Given the description of an element on the screen output the (x, y) to click on. 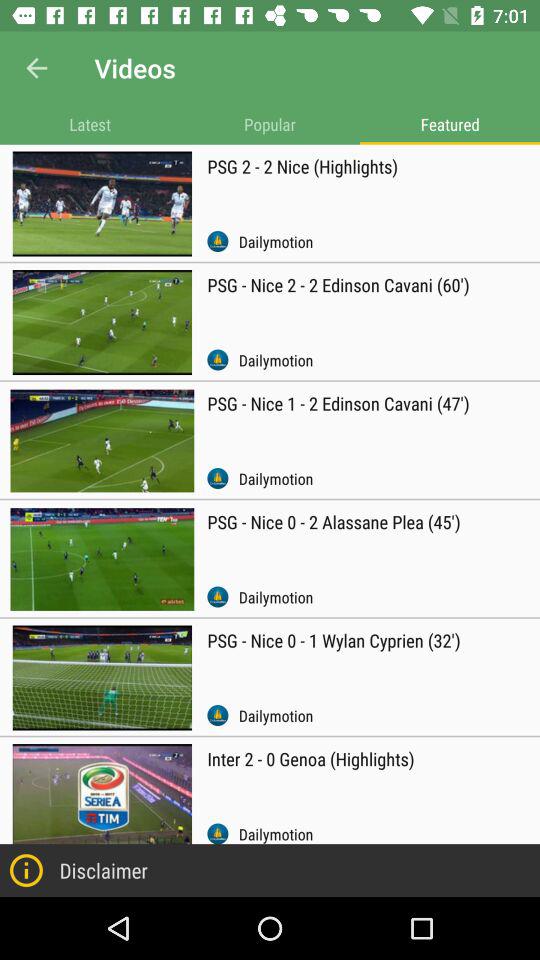
choose the featured item (450, 124)
